Given the description of an element on the screen output the (x, y) to click on. 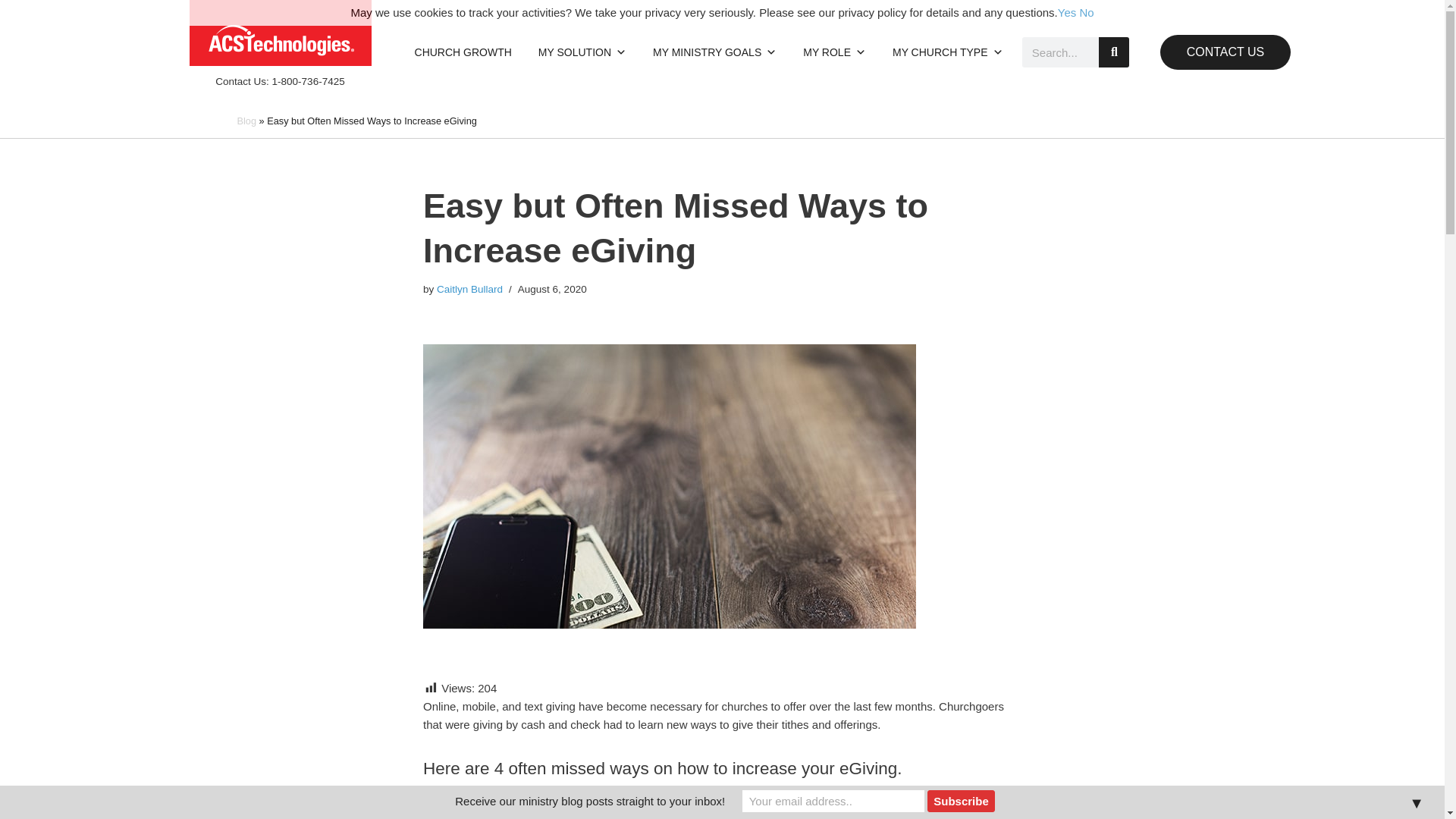
MY MINISTRY GOALS (714, 52)
Subscribe (961, 801)
MY ROLE (833, 52)
Skip to content (11, 31)
MY SOLUTION (582, 52)
Contact Us: 1-800-736-7425 (279, 81)
CHURCH GROWTH (463, 52)
Posts by Caitlyn Bullard (469, 288)
